Given the description of an element on the screen output the (x, y) to click on. 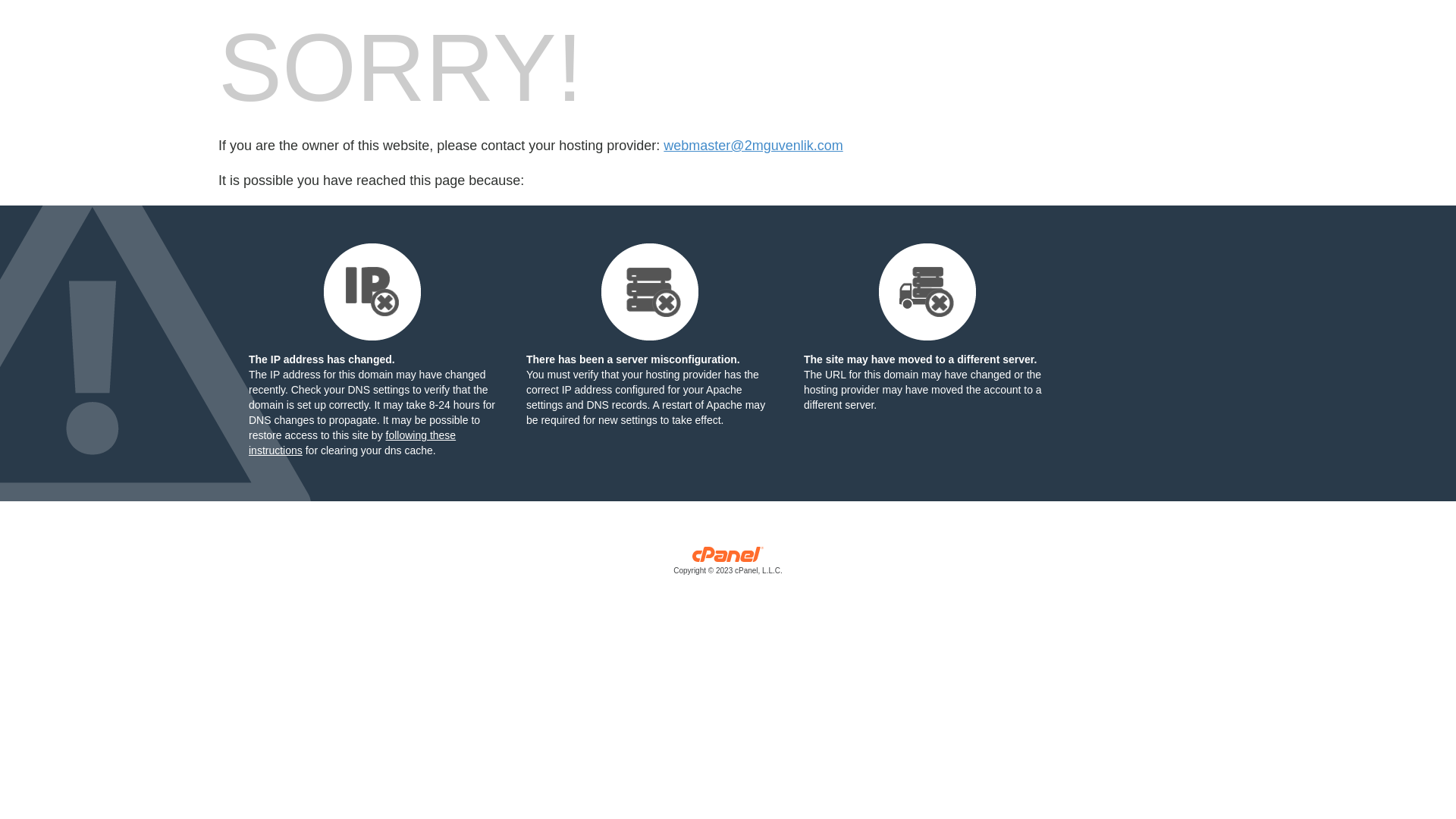
webmaster@2mguvenlik.com Element type: text (752, 145)
following these instructions Element type: text (351, 442)
